Given the description of an element on the screen output the (x, y) to click on. 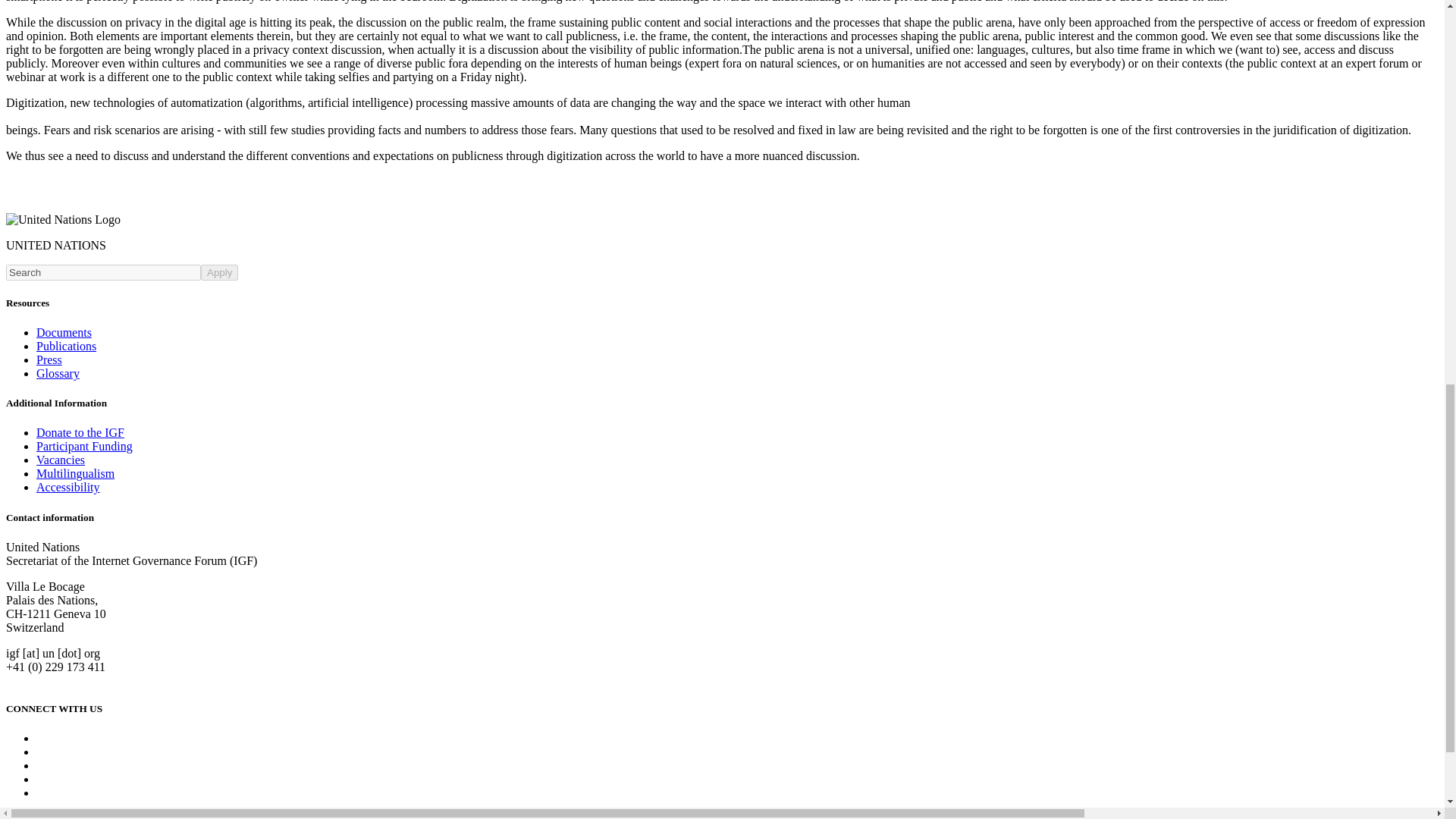
Search (102, 272)
Apply (219, 272)
